Given the description of an element on the screen output the (x, y) to click on. 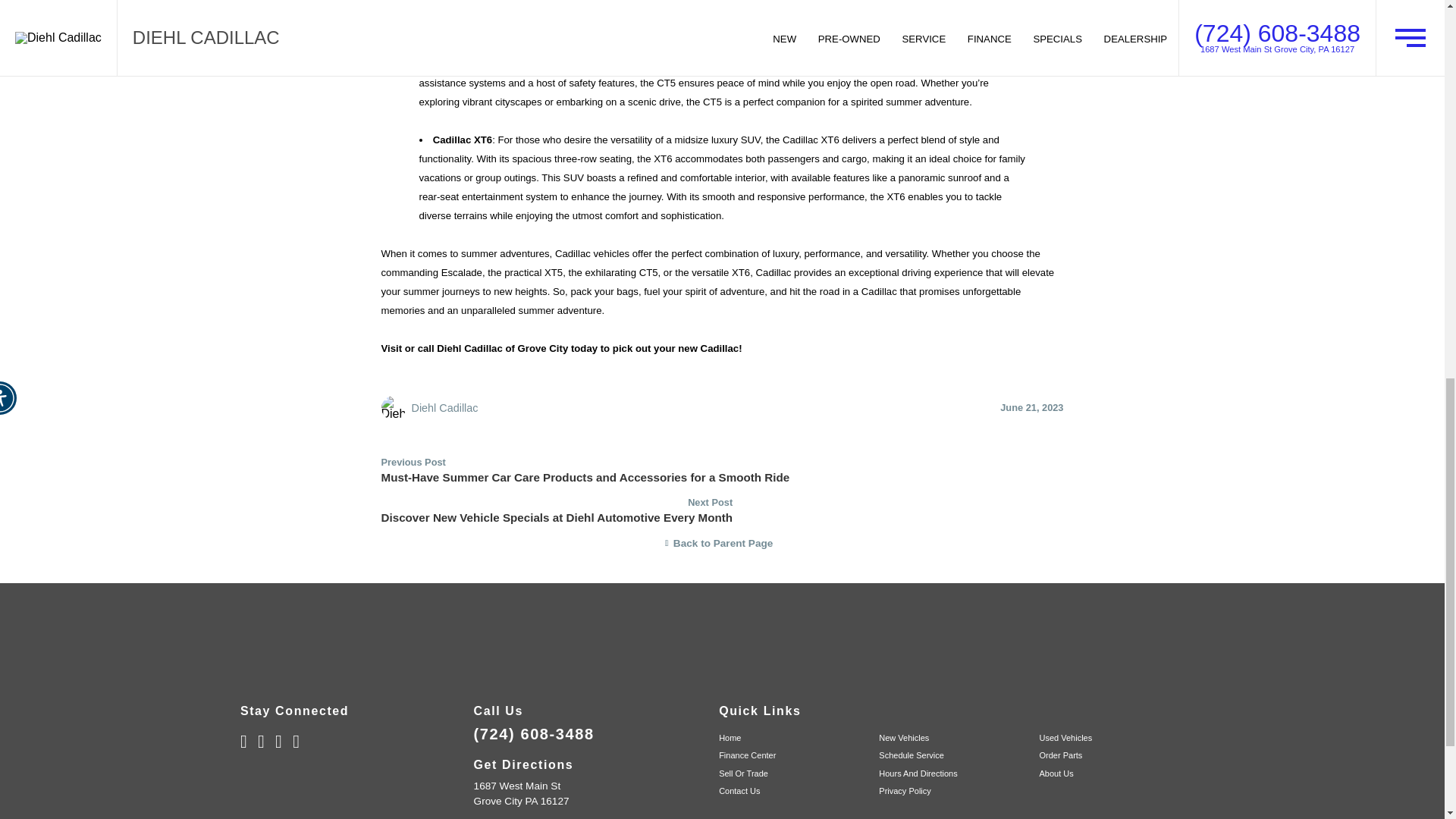
Posted by Diehl Cadillac (443, 407)
